Given the description of an element on the screen output the (x, y) to click on. 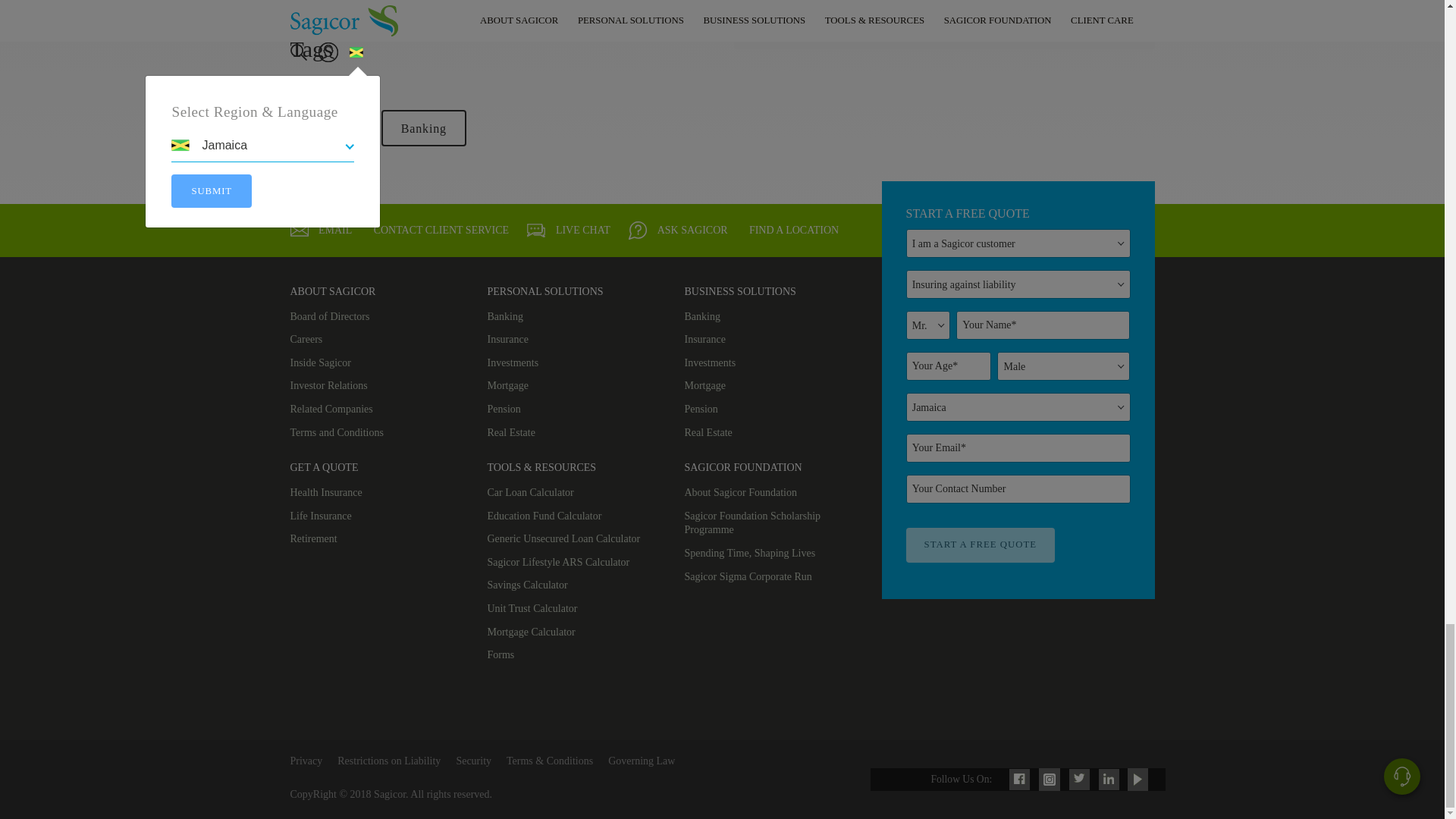
Ask Sagicor  (677, 230)
Start a free Quote (980, 544)
twitter (372, 23)
EMAIL (298, 230)
linkedin (1108, 778)
twitter (1079, 777)
Privacy (305, 760)
Email (320, 230)
facebook (1019, 778)
facebook (311, 24)
linkedin (401, 24)
ASK-SAGICOR (637, 230)
Find A Location  (791, 230)
Live Chat (568, 230)
Subscribe (1096, 25)
